Given the description of an element on the screen output the (x, y) to click on. 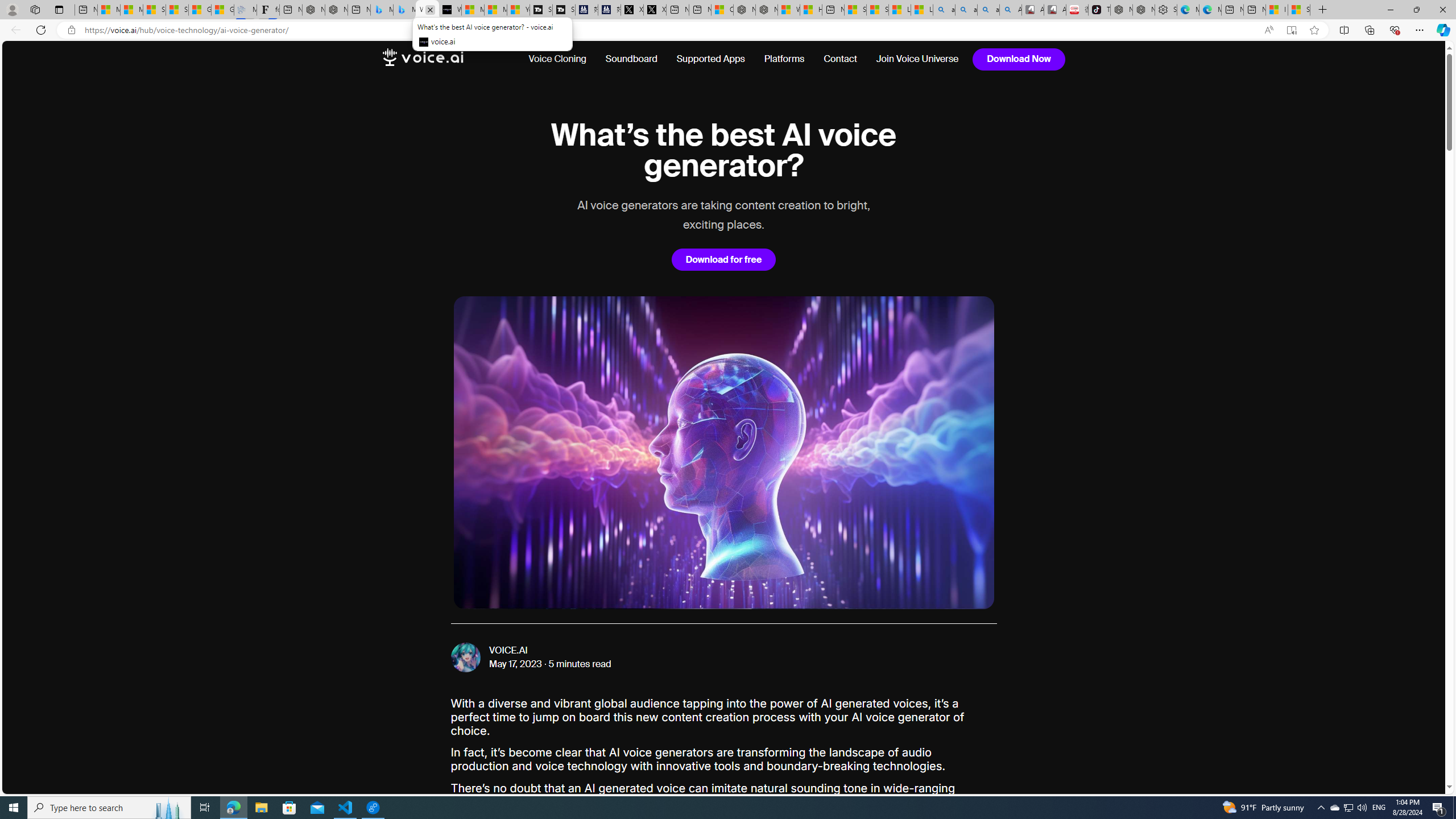
amazon - Search (966, 9)
Shanghai, China weather forecast | Microsoft Weather (177, 9)
Supported Apps (710, 59)
Contact (839, 59)
All Cubot phones (1055, 9)
I Gained 20 Pounds of Muscle in 30 Days! | Watch (1276, 9)
Nordace Siena Pro 15 Backpack (1143, 9)
Soundboard (630, 59)
